Given the description of an element on the screen output the (x, y) to click on. 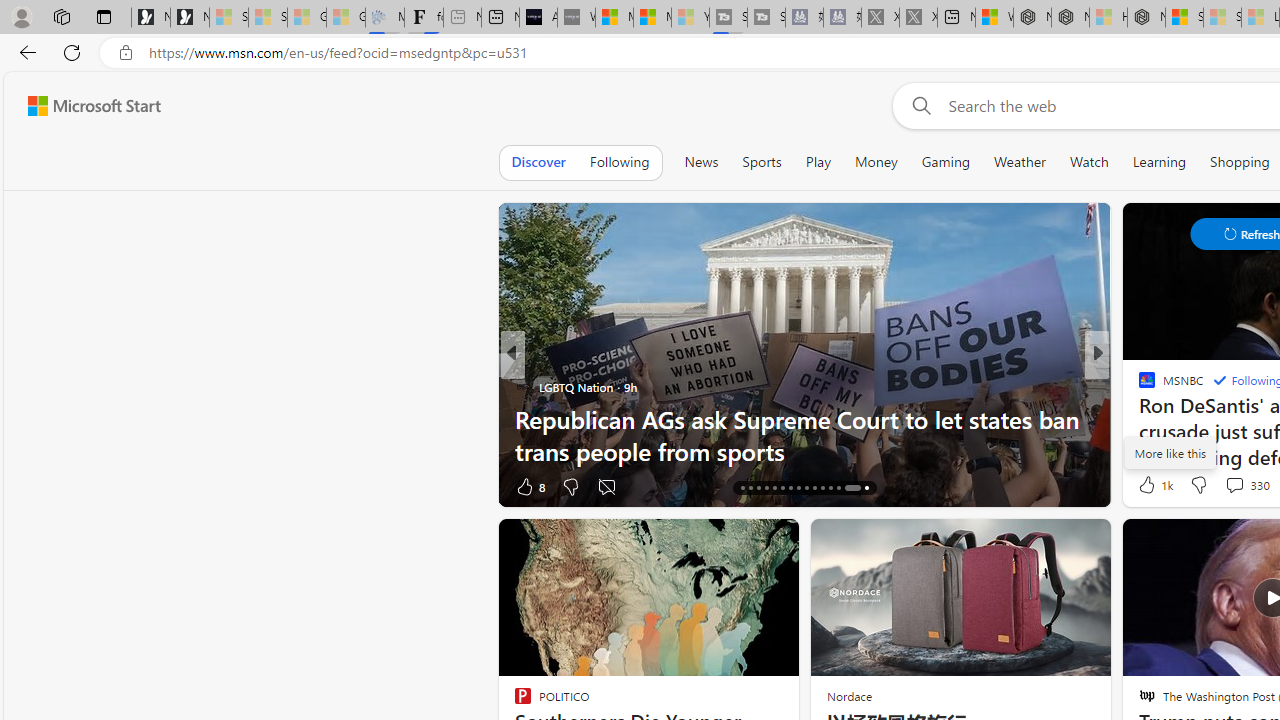
View comments 6 Comment (11, 485)
